Given the description of an element on the screen output the (x, y) to click on. 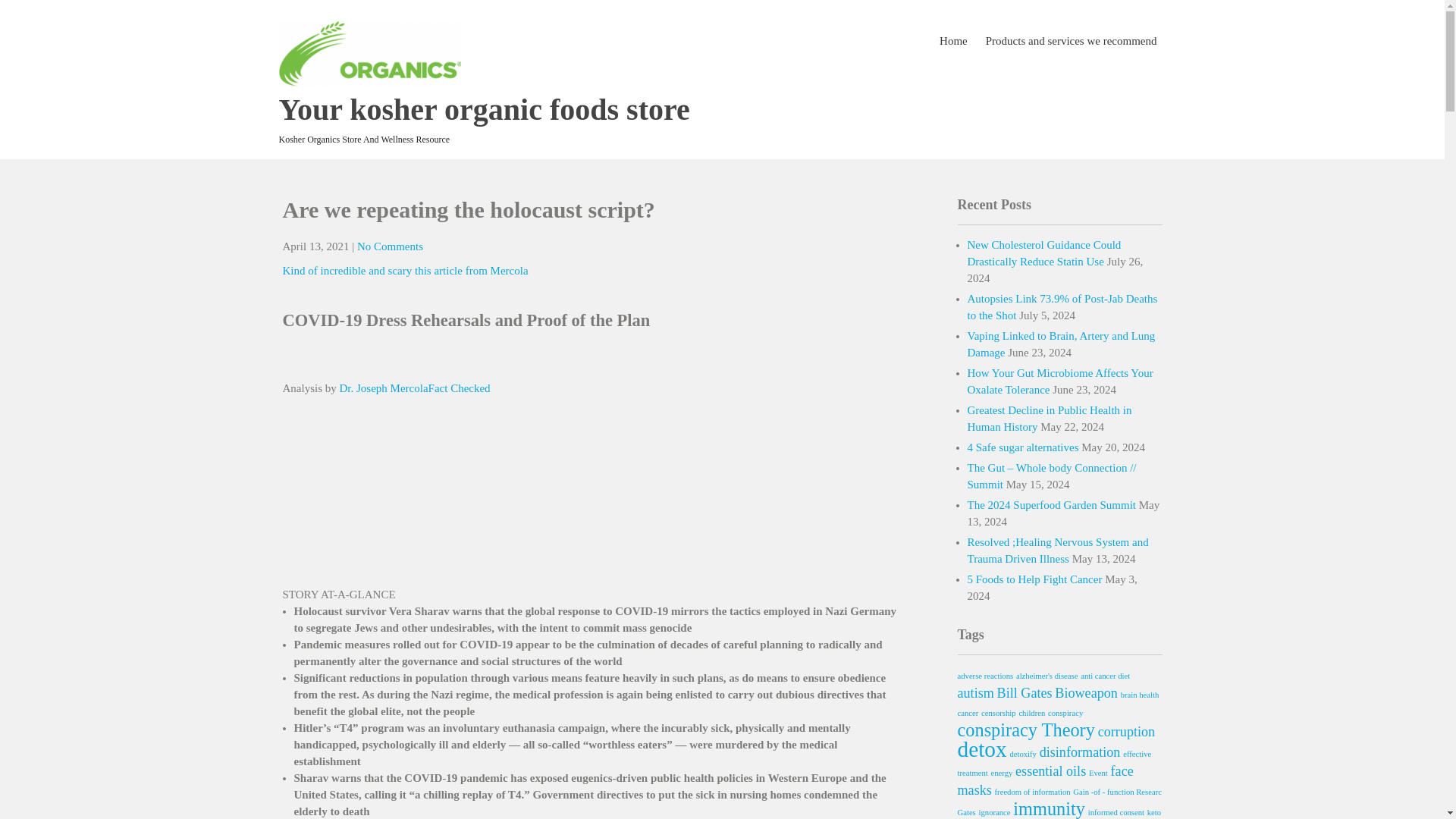
Products and services we recommend (1071, 40)
How Your Gut Microbiome Affects Your Oxalate Tolerance (1060, 380)
5 Foods to Help Fight Cancer (1035, 579)
Kind of incredible and scary this article from Mercola (404, 270)
Fact Checked (459, 387)
Resolved ;Healing Nervous System and Trauma Driven Illness (1058, 550)
alzheimer's disease (1047, 675)
Greatest Decline in Public Health in Human History (1050, 418)
adverse reactions (984, 675)
autism (974, 693)
